Given the description of an element on the screen output the (x, y) to click on. 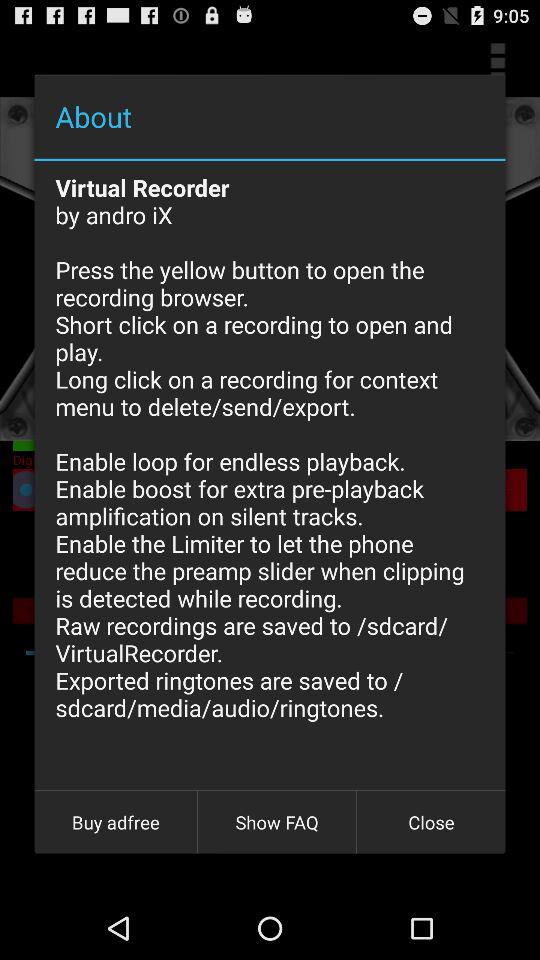
click the icon to the right of the show faq icon (431, 821)
